Given the description of an element on the screen output the (x, y) to click on. 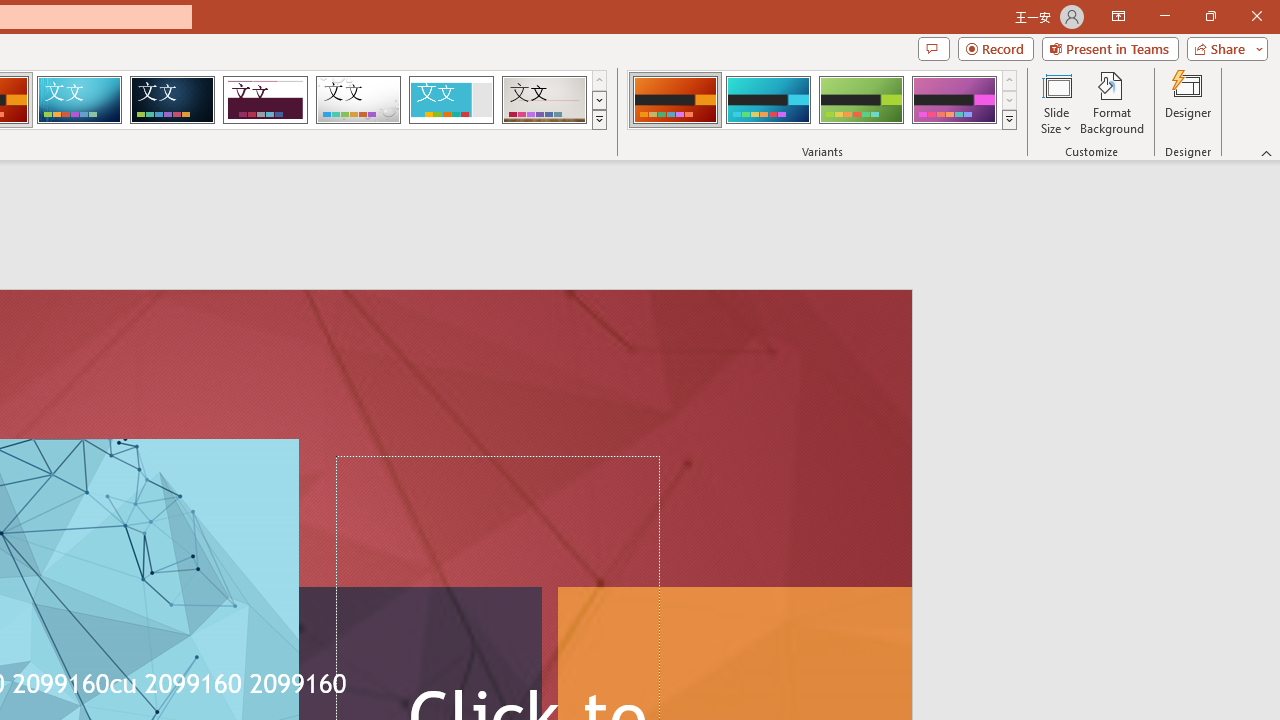
Droplet (358, 100)
Berlin Variant 3 (861, 100)
